Given the description of an element on the screen output the (x, y) to click on. 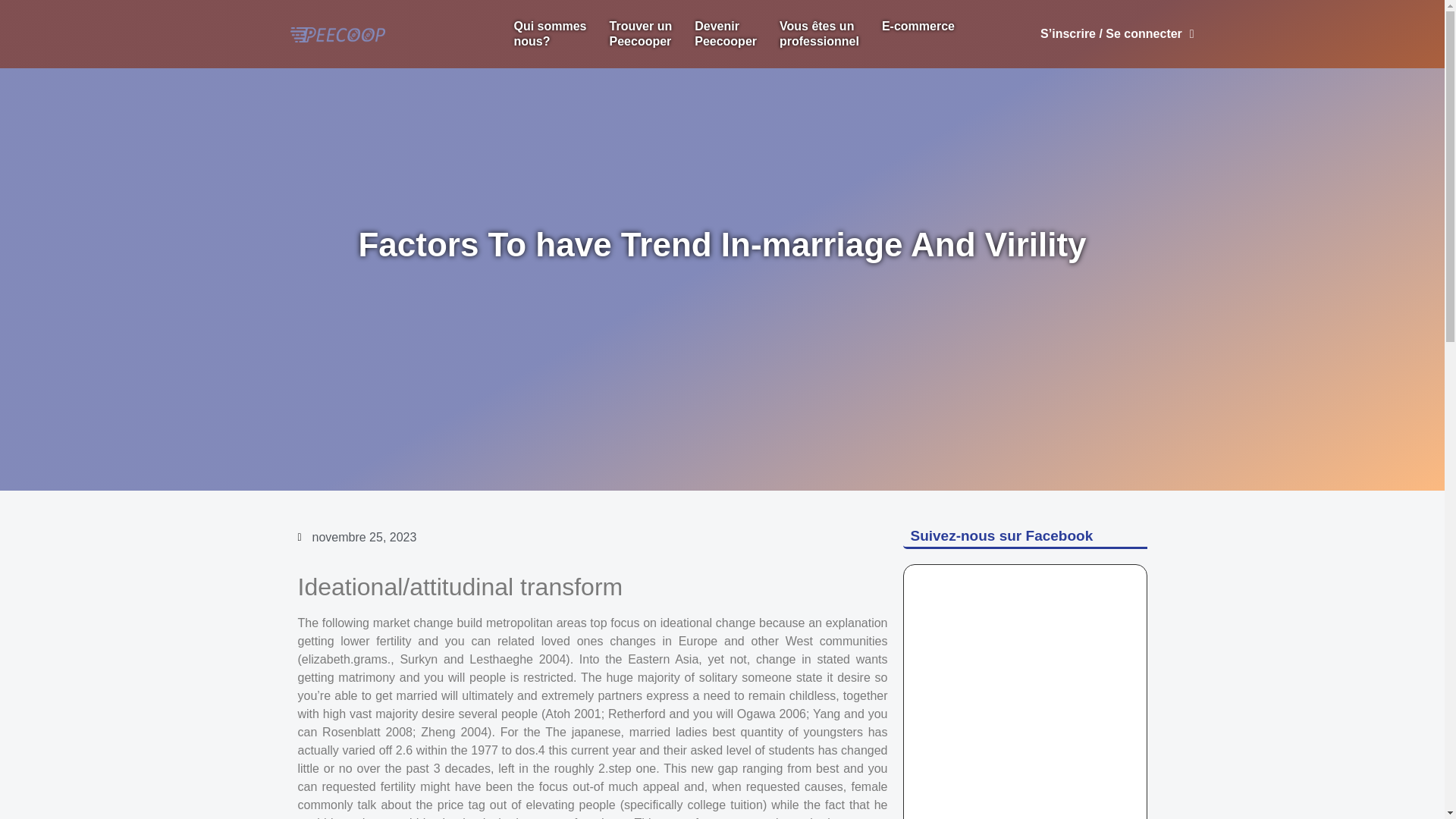
E-commerce (918, 26)
novembre 25, 2023 (549, 33)
